Given the description of an element on the screen output the (x, y) to click on. 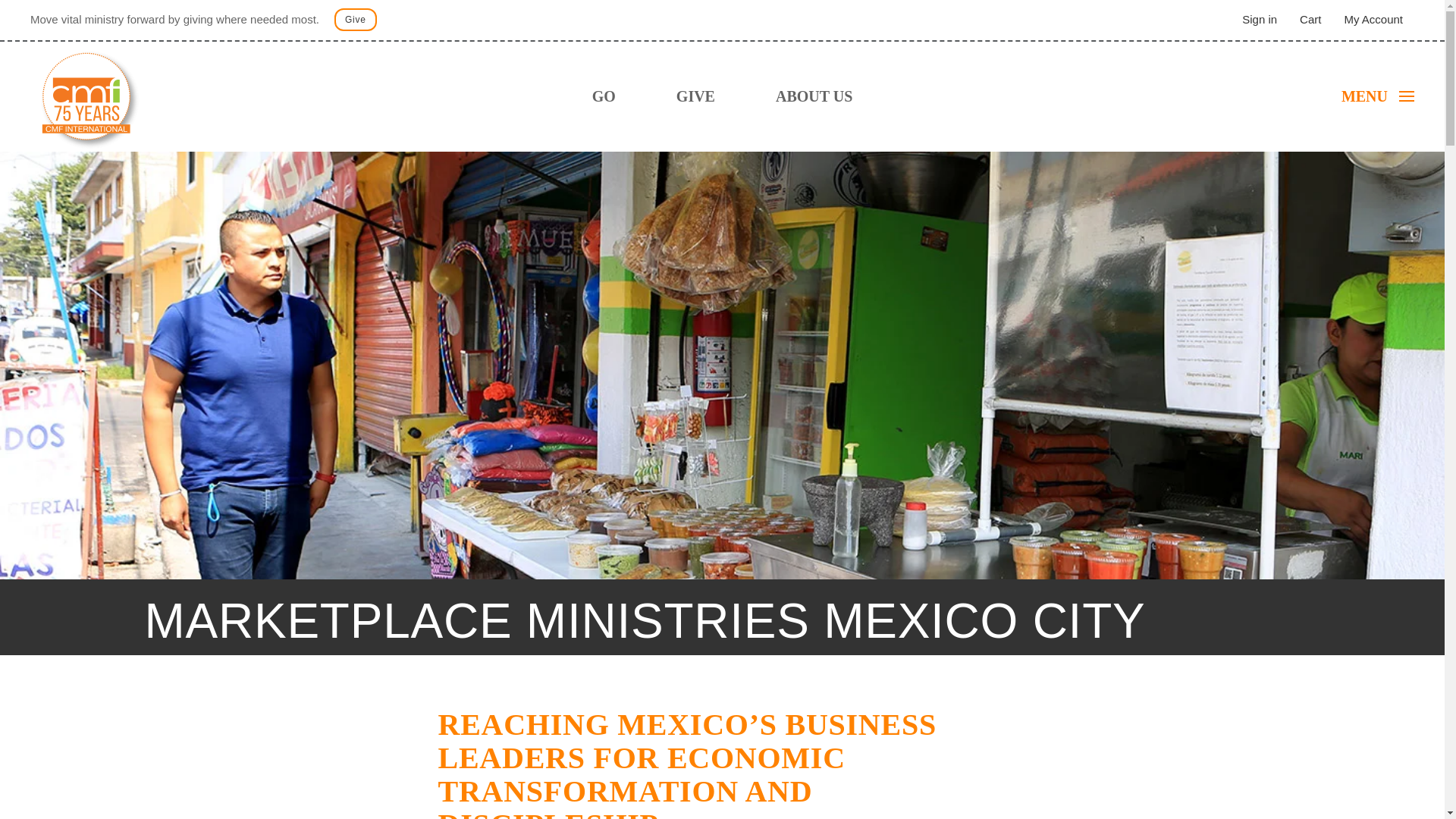
Cart (1310, 19)
Sign in (1258, 19)
My Account (1373, 19)
Give (355, 19)
Cart (1310, 19)
ABOUT US (813, 96)
Sign in (1258, 19)
Account (1373, 19)
